Given the description of an element on the screen output the (x, y) to click on. 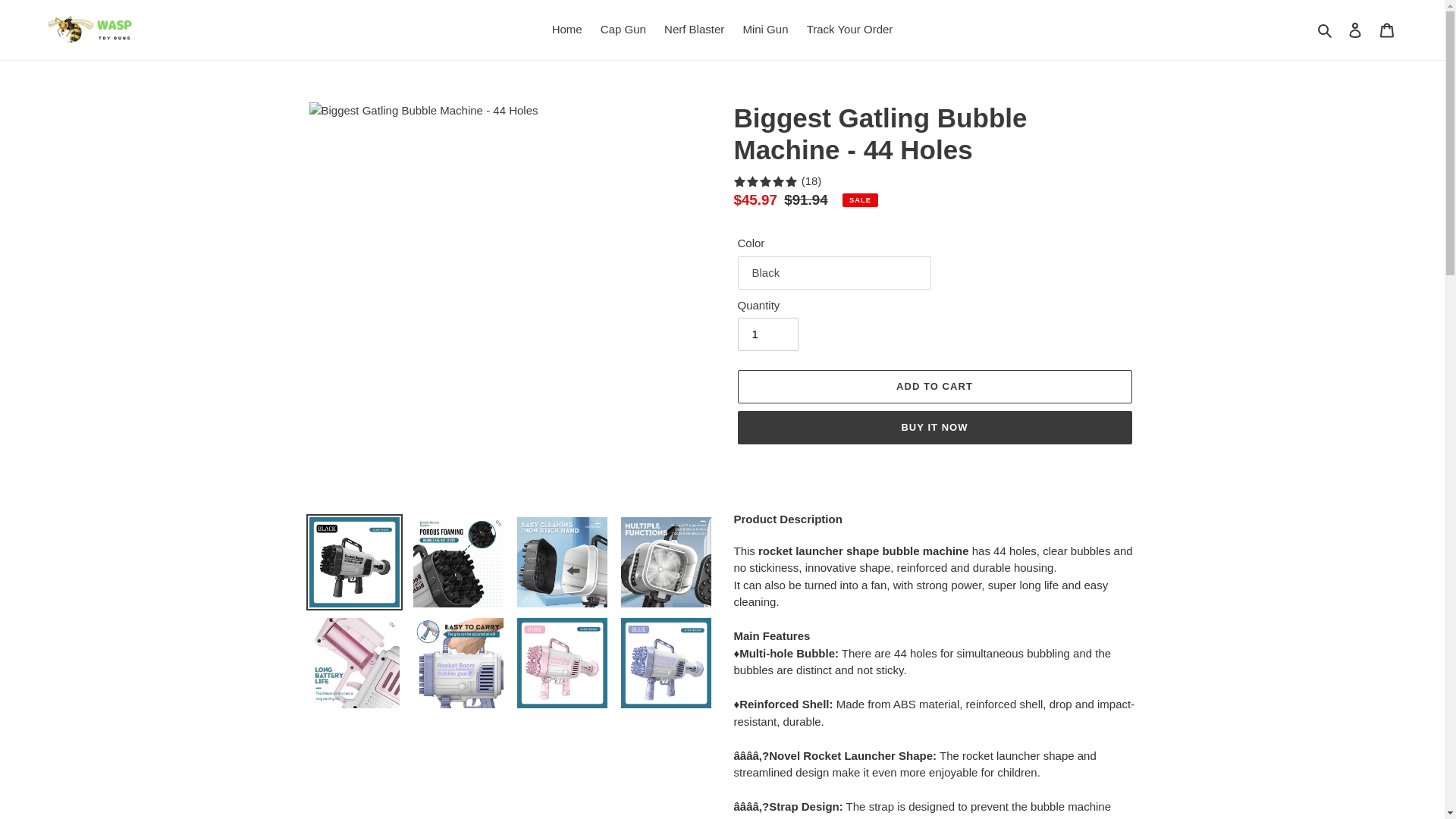
Search (1326, 29)
BUY IT NOW (933, 427)
ADD TO CART (933, 386)
Nerf Blaster (694, 29)
Mini Gun (764, 29)
Cap Gun (622, 29)
Log in (1355, 29)
Home (566, 29)
Track Your Order (850, 29)
Cart (1387, 29)
